Given the description of an element on the screen output the (x, y) to click on. 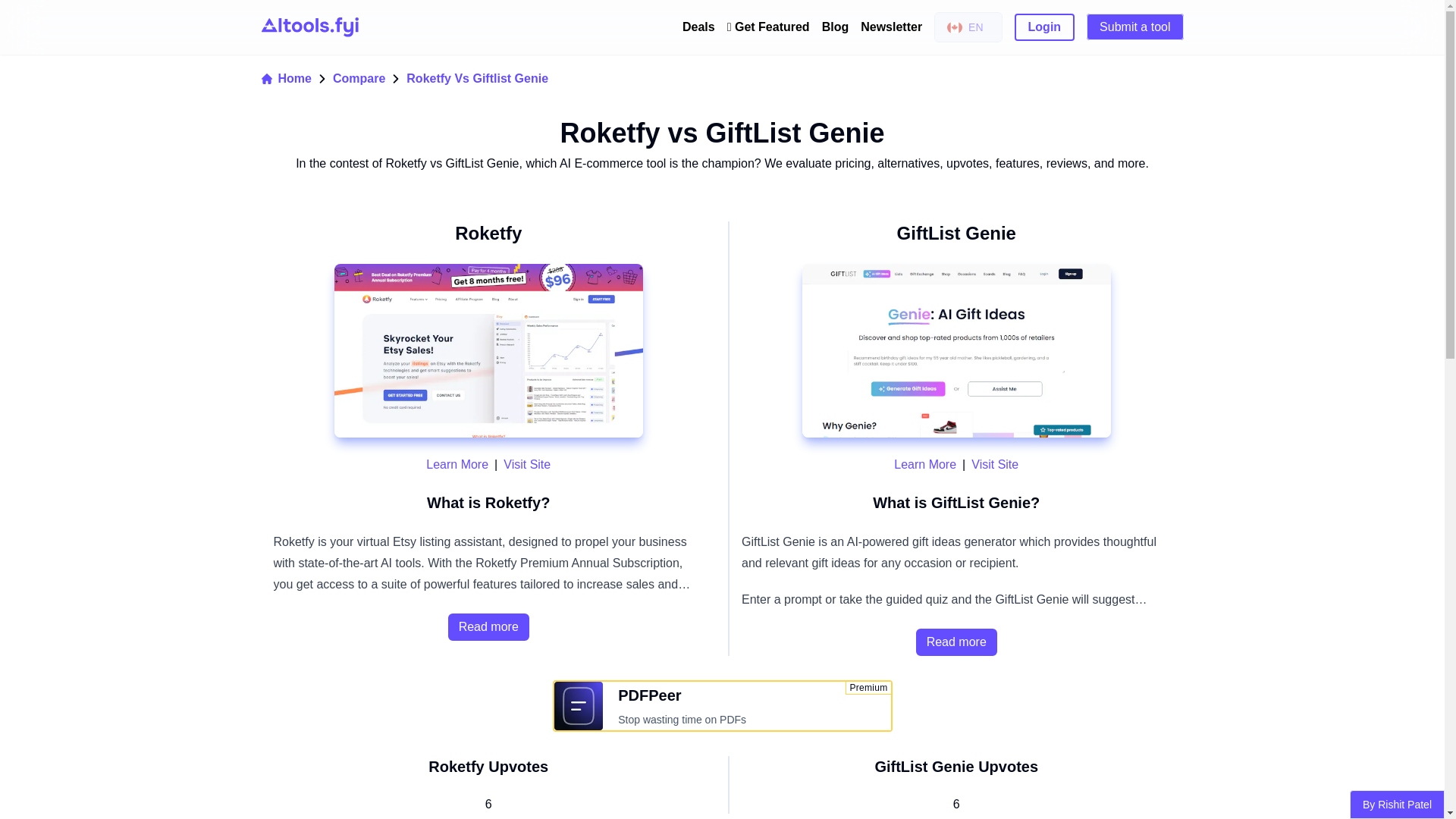
Blog (835, 26)
Login (1044, 26)
Home (721, 706)
Deals (285, 78)
EN (698, 26)
Read more (967, 27)
Learn More (956, 642)
Submit a tool (456, 464)
Learn More (1134, 26)
Newsletter (924, 464)
Read more (890, 26)
Visit Site (488, 626)
Visit Site (526, 464)
